Given the description of an element on the screen output the (x, y) to click on. 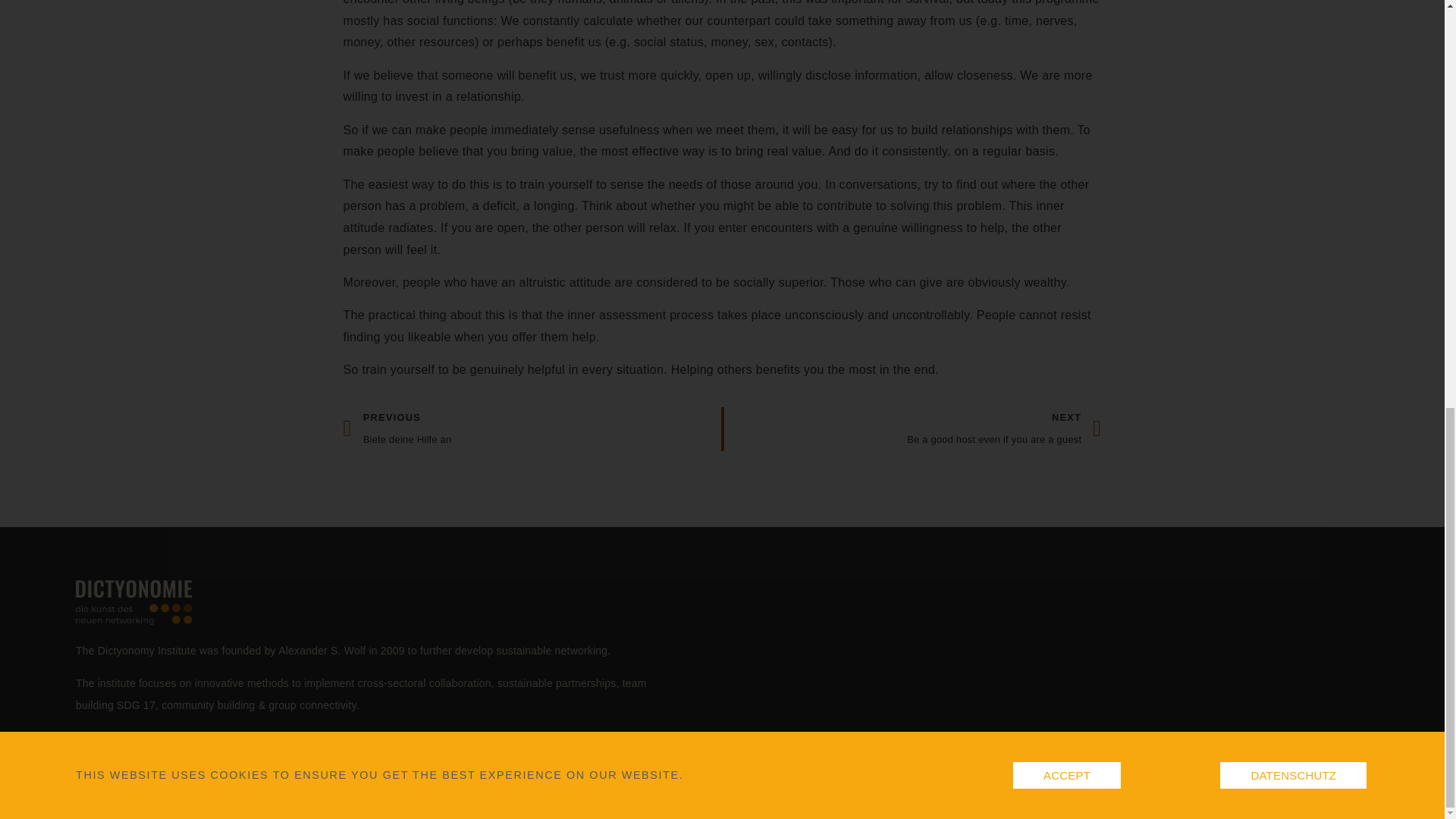
IMPRINT (560, 799)
PRIVACY (1345, 799)
CONTACT (1003, 429)
